Given the description of an element on the screen output the (x, y) to click on. 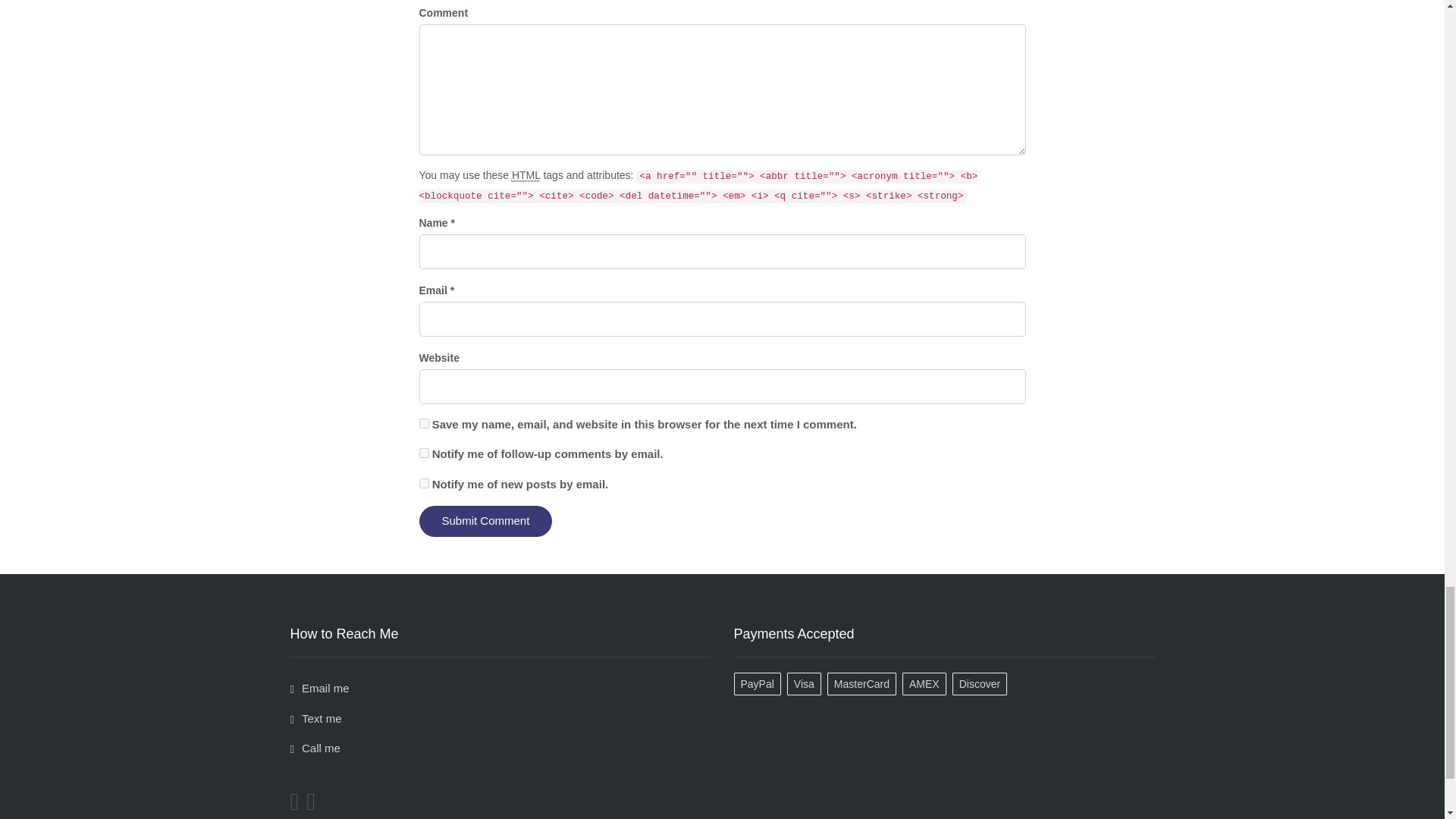
yes (423, 423)
Submit Comment (485, 521)
Submit Comment (485, 521)
subscribe (423, 452)
subscribe (423, 483)
HyperText Markup Language (526, 174)
